Given the description of an element on the screen output the (x, y) to click on. 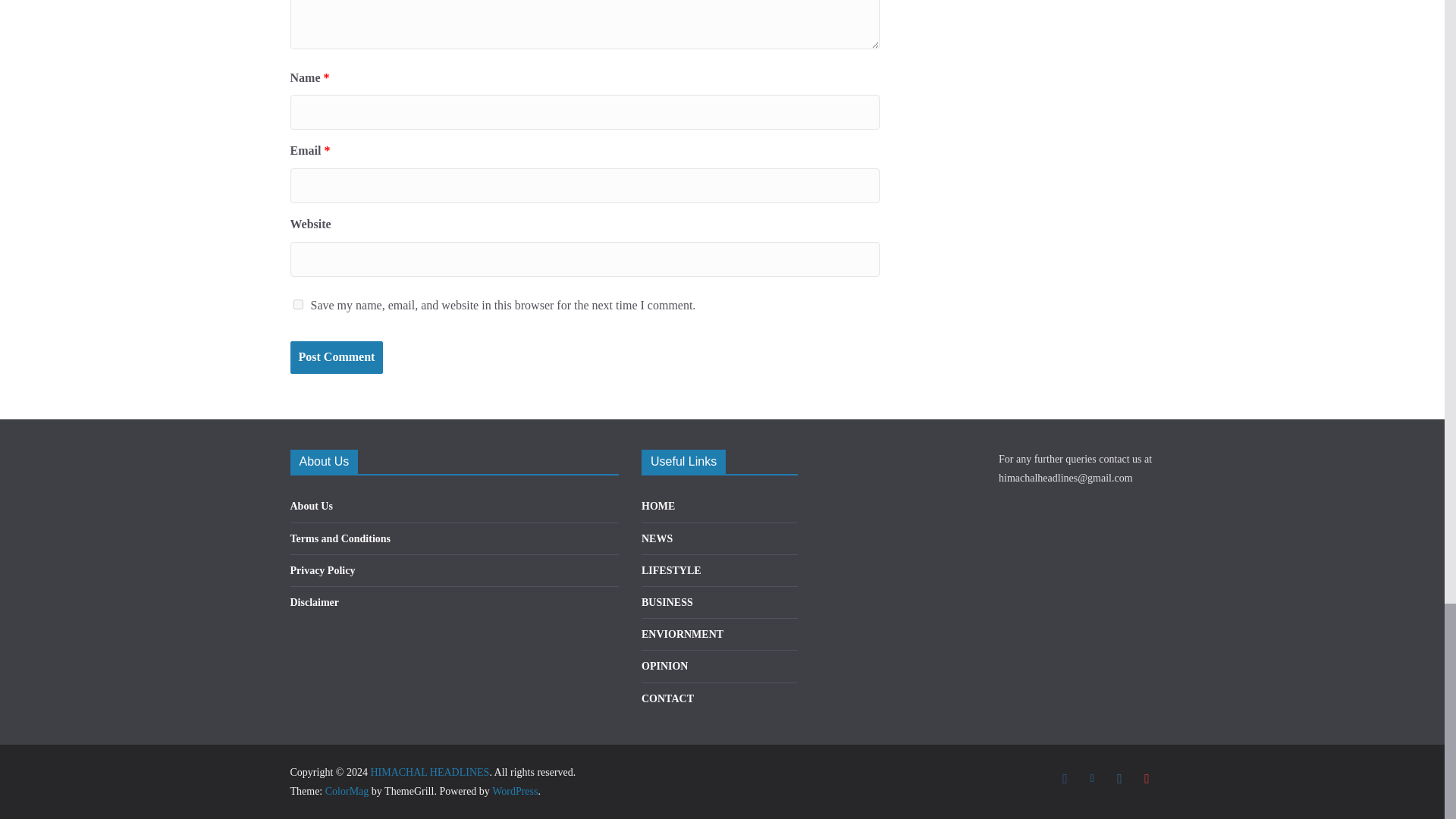
Post Comment (335, 357)
yes (297, 304)
